Given the description of an element on the screen output the (x, y) to click on. 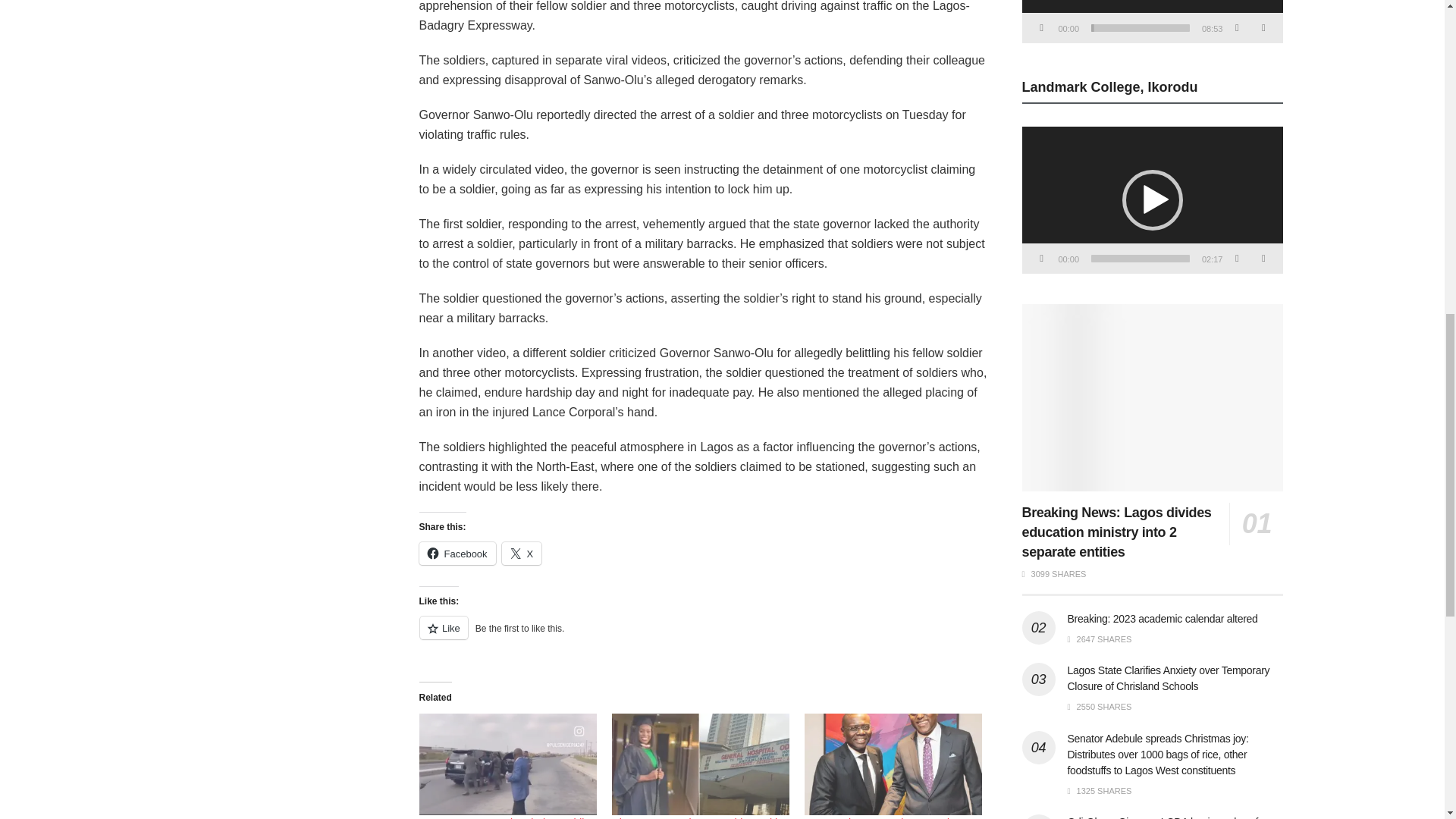
Diaso: Sanwo-Olu sympathises with Lagos doctors (695, 817)
Like or Reblog (703, 636)
Click to share on X (521, 553)
Diaso: Sanwo-Olu sympathises with Lagos doctors (700, 763)
Play (1041, 28)
Mute (1236, 28)
Click to share on Facebook (457, 553)
